Given the description of an element on the screen output the (x, y) to click on. 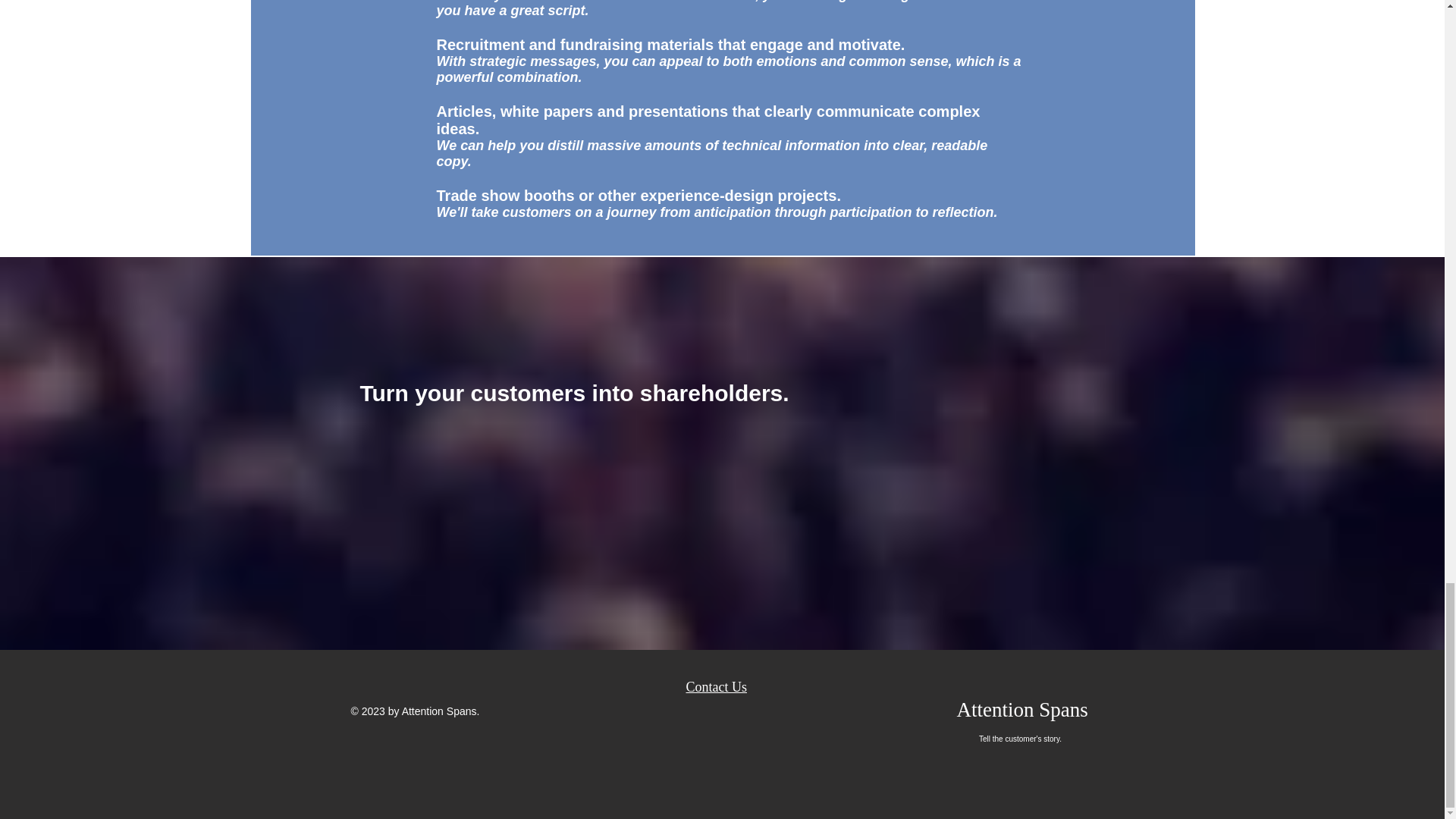
Contact Us (715, 686)
Attention Spans (1021, 709)
Tell the customer's story. (1019, 738)
